Given the description of an element on the screen output the (x, y) to click on. 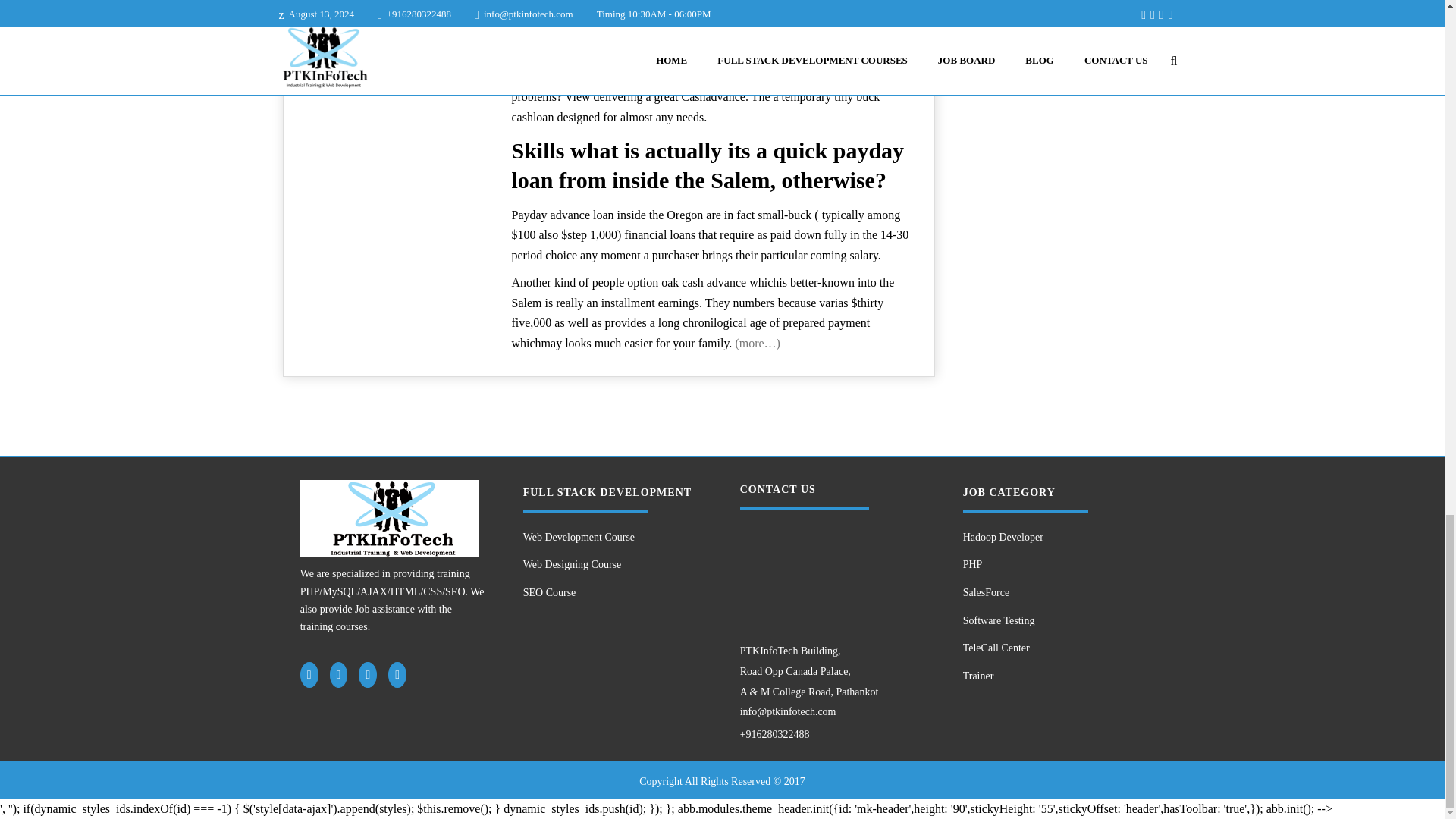
Web Development Course (611, 538)
Web Designing Course (611, 565)
SEO Course (611, 593)
